Given the description of an element on the screen output the (x, y) to click on. 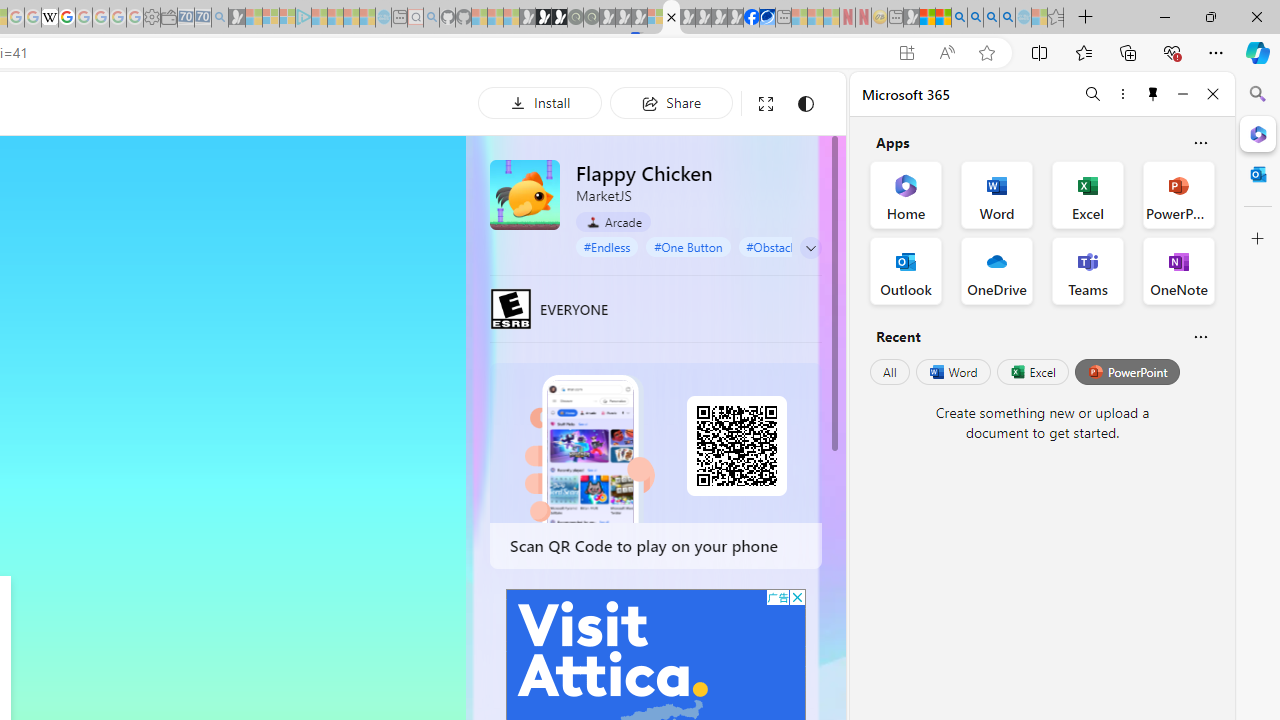
Flappy Chicken (525, 194)
Install (540, 102)
Close Microsoft 365 pane (1258, 133)
Settings - Sleeping (151, 17)
